Given the description of an element on the screen output the (x, y) to click on. 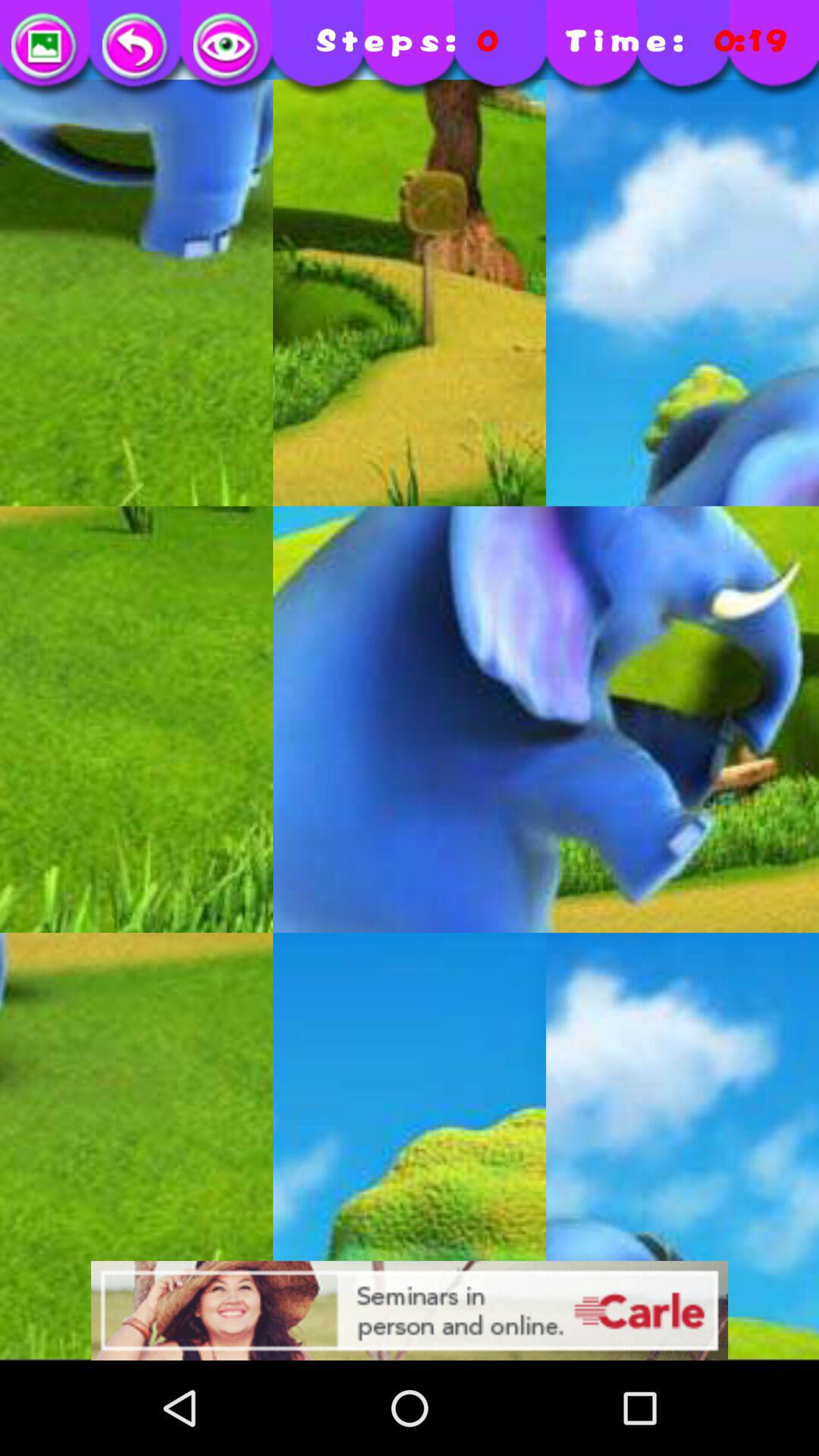
go to previous (136, 47)
